Given the description of an element on the screen output the (x, y) to click on. 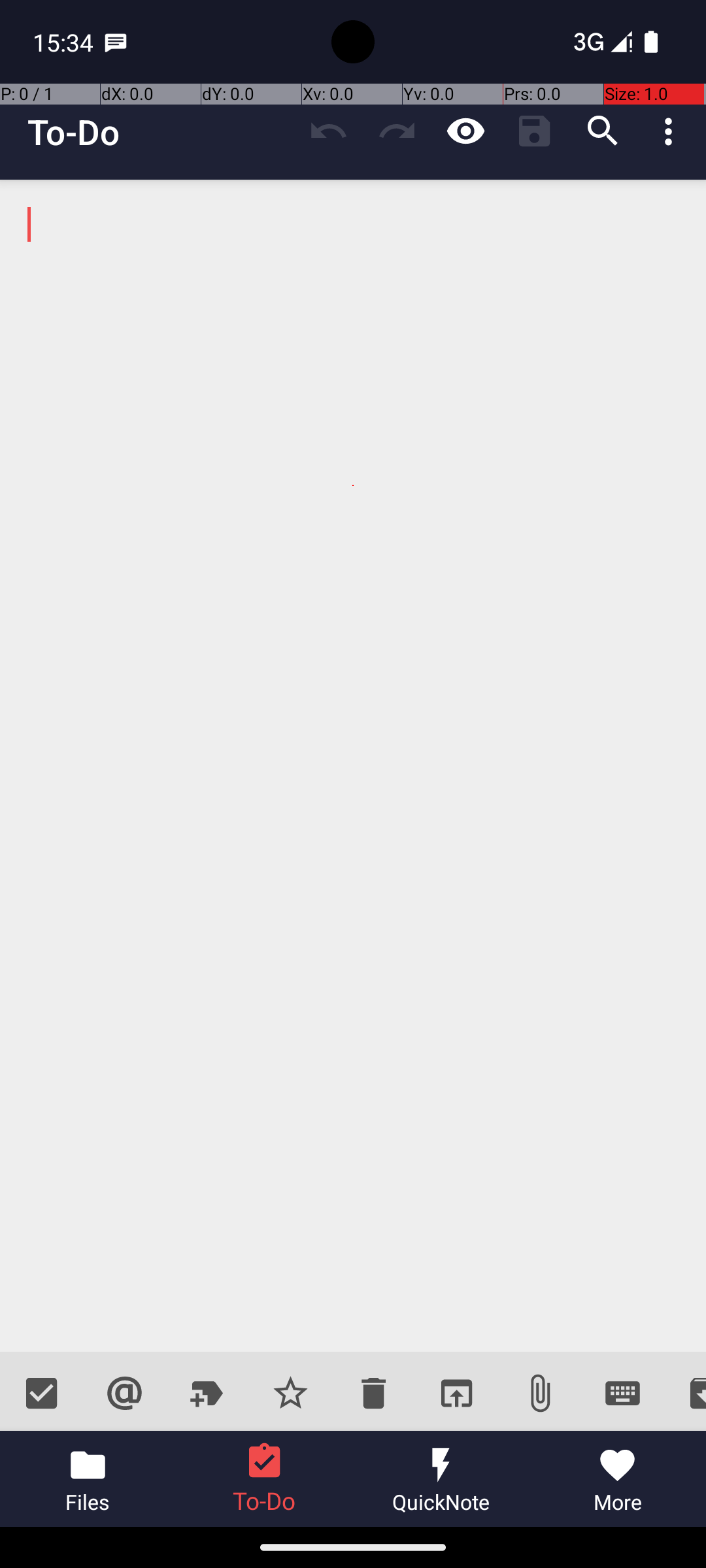
Toggle done Element type: android.widget.ImageView (41, 1392)
Add context Element type: android.widget.ImageView (124, 1392)
Add project Element type: android.widget.ImageView (207, 1392)
Priority Element type: android.widget.ImageView (290, 1392)
Archive completed tasks Element type: android.widget.ImageView (685, 1392)
